Given the description of an element on the screen output the (x, y) to click on. 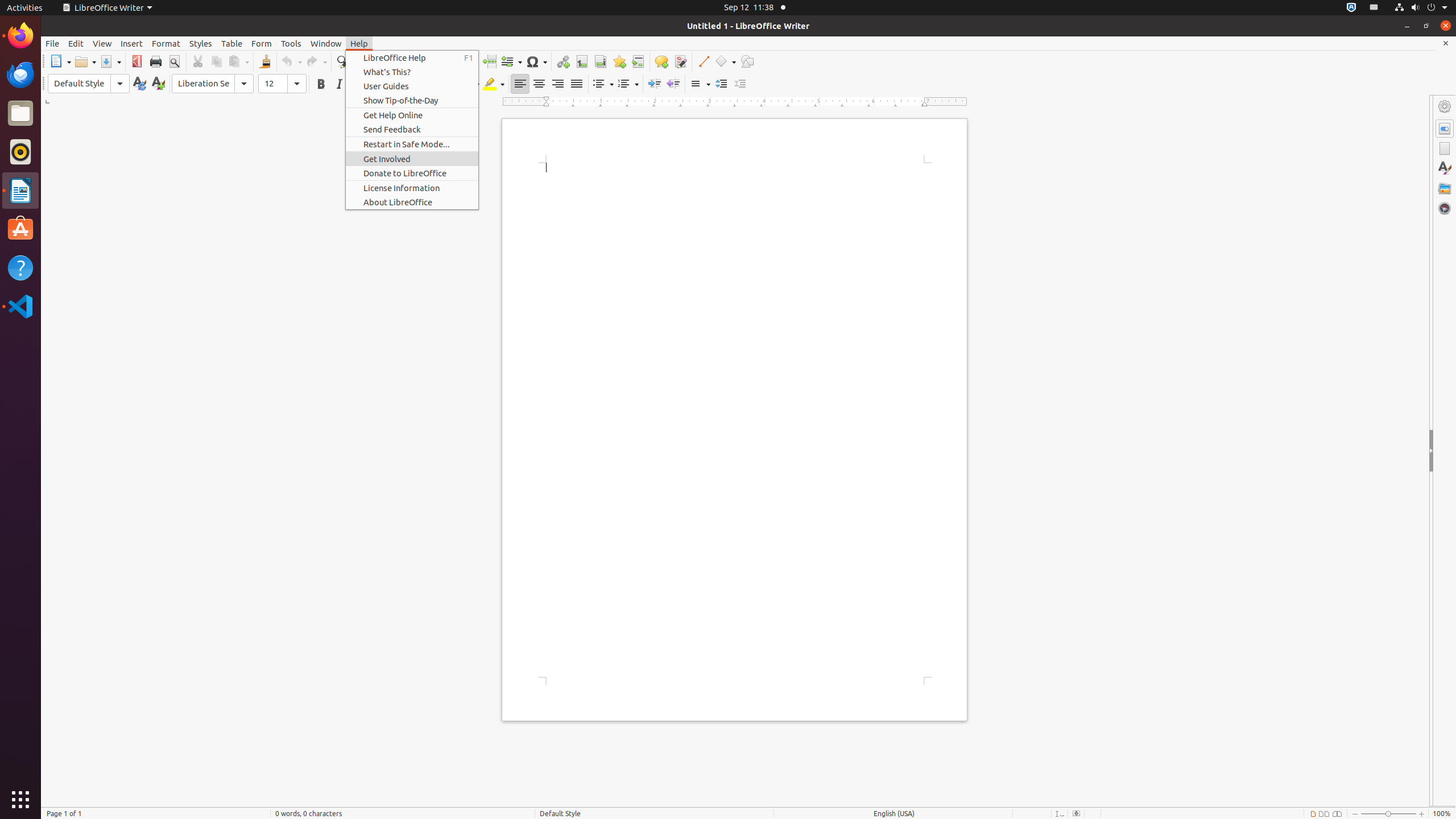
Page Break Element type: push-button (489, 61)
Send Feedback Element type: menu-item (411, 129)
Table Element type: menu (231, 43)
File Element type: menu (51, 43)
Font Name Element type: combo-box (212, 83)
